Given the description of an element on the screen output the (x, y) to click on. 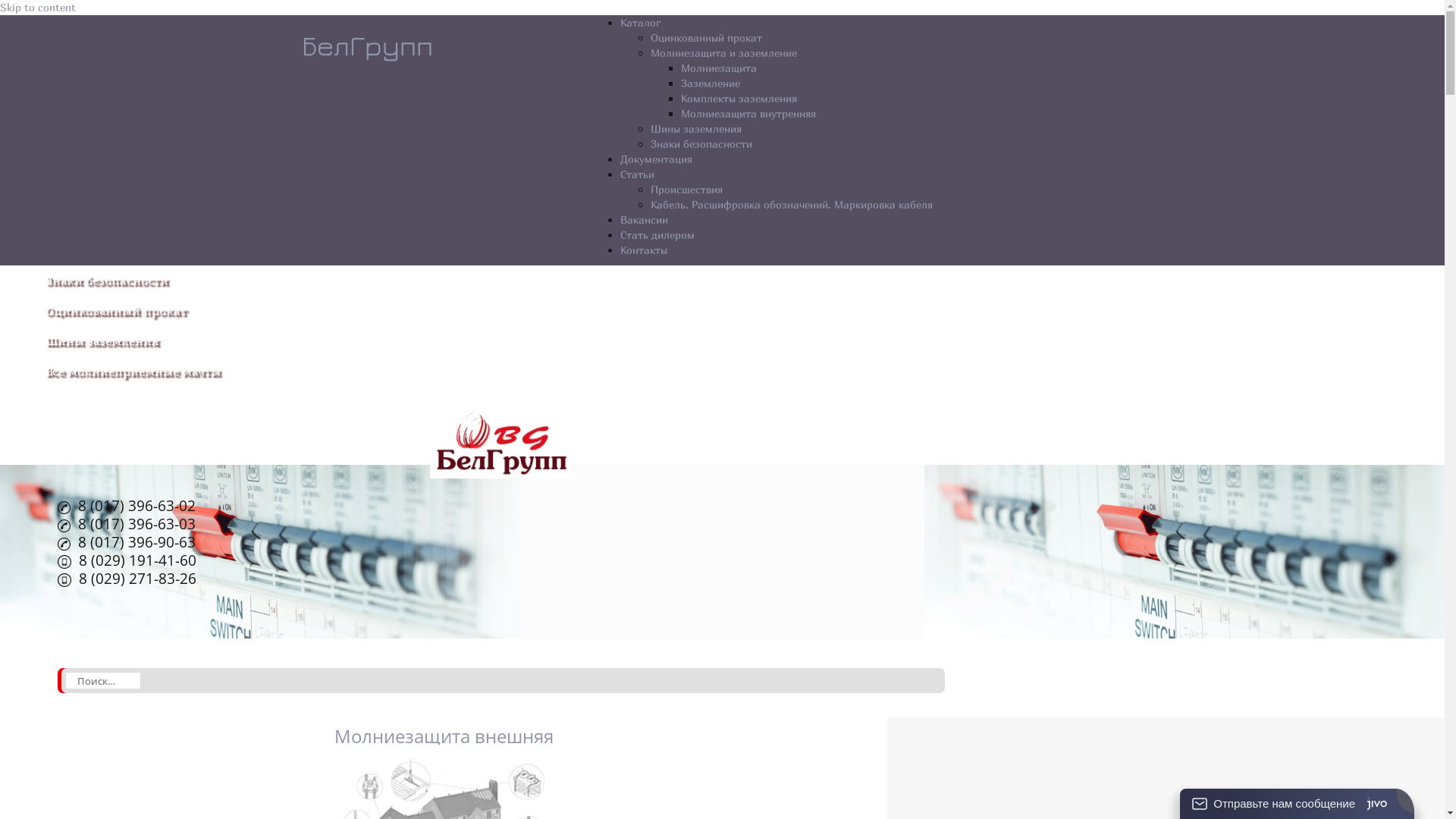
Skip to content Element type: text (37, 6)
  8 (029) 191-41-60 Element type: text (126, 561)
